Given the description of an element on the screen output the (x, y) to click on. 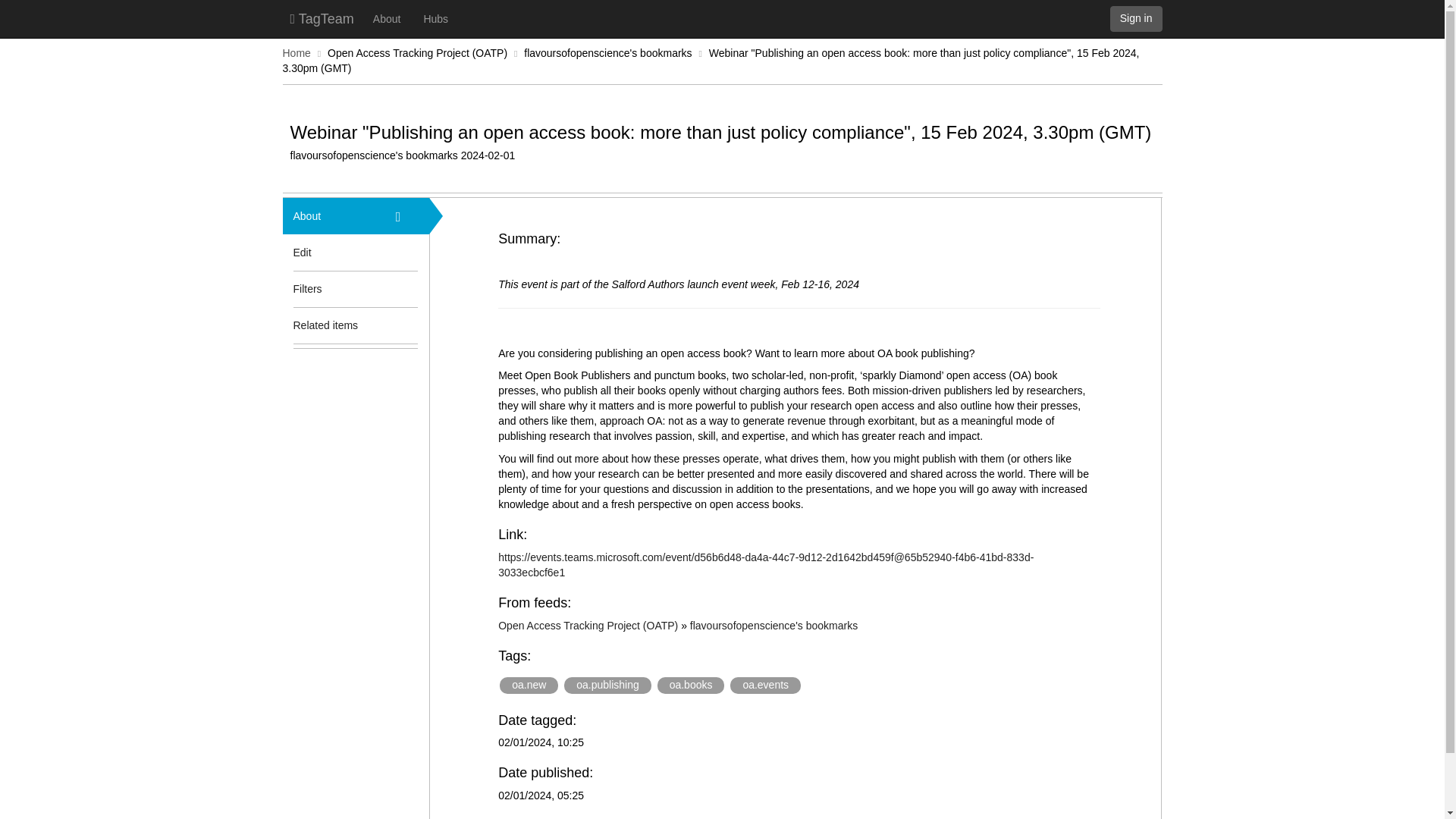
About (333, 216)
Home (296, 52)
oa.new (528, 685)
Edit (301, 252)
oa.events (765, 685)
About a feed item (407, 216)
flavoursofopenscience's bookmarks (607, 52)
Filters (333, 289)
oa.books (691, 685)
Item-level tag filters (407, 289)
